Given the description of an element on the screen output the (x, y) to click on. 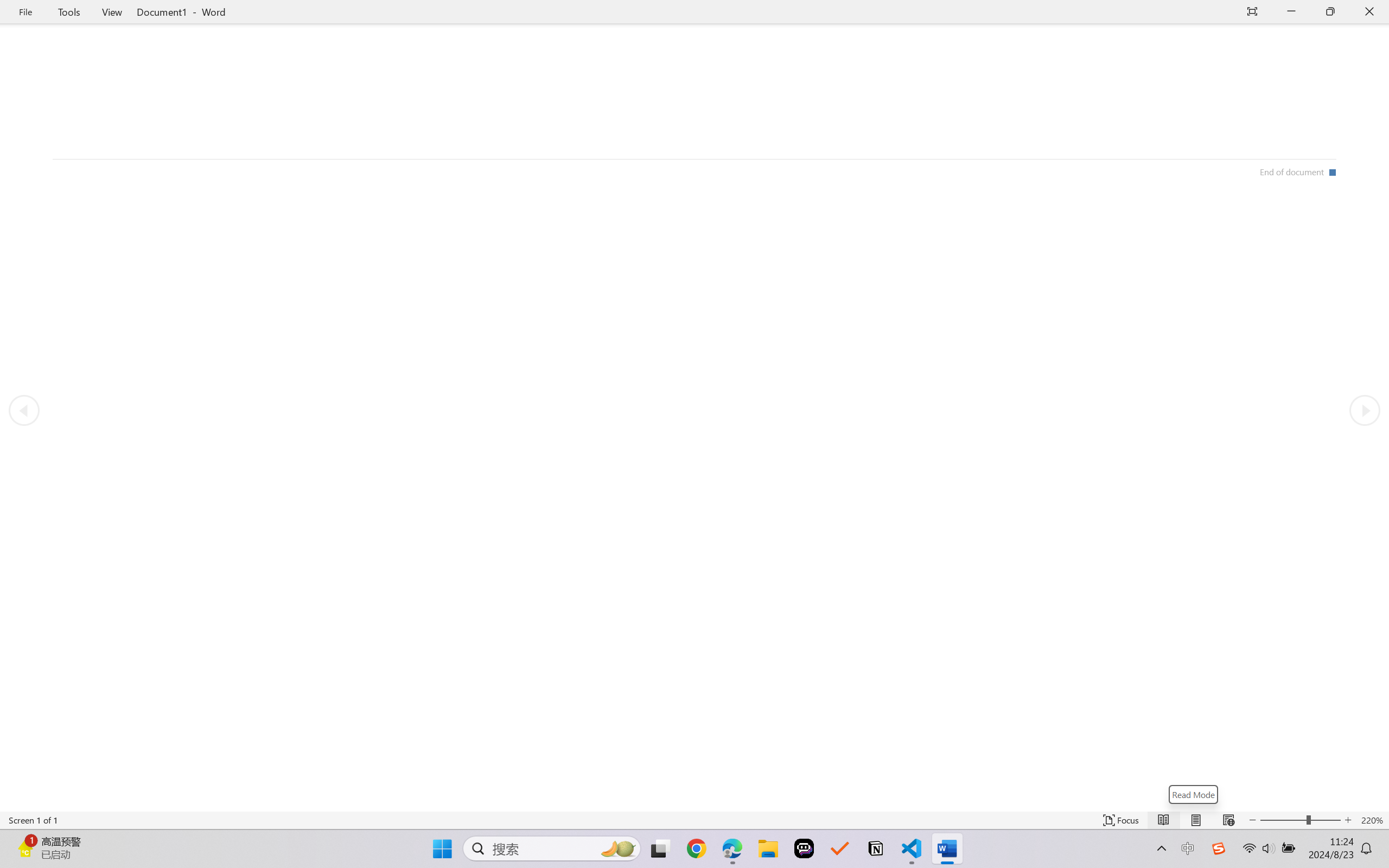
Decrease Text Size (1252, 819)
Page Number Screen 1 of 1  (32, 819)
Text Size (1300, 819)
